Given the description of an element on the screen output the (x, y) to click on. 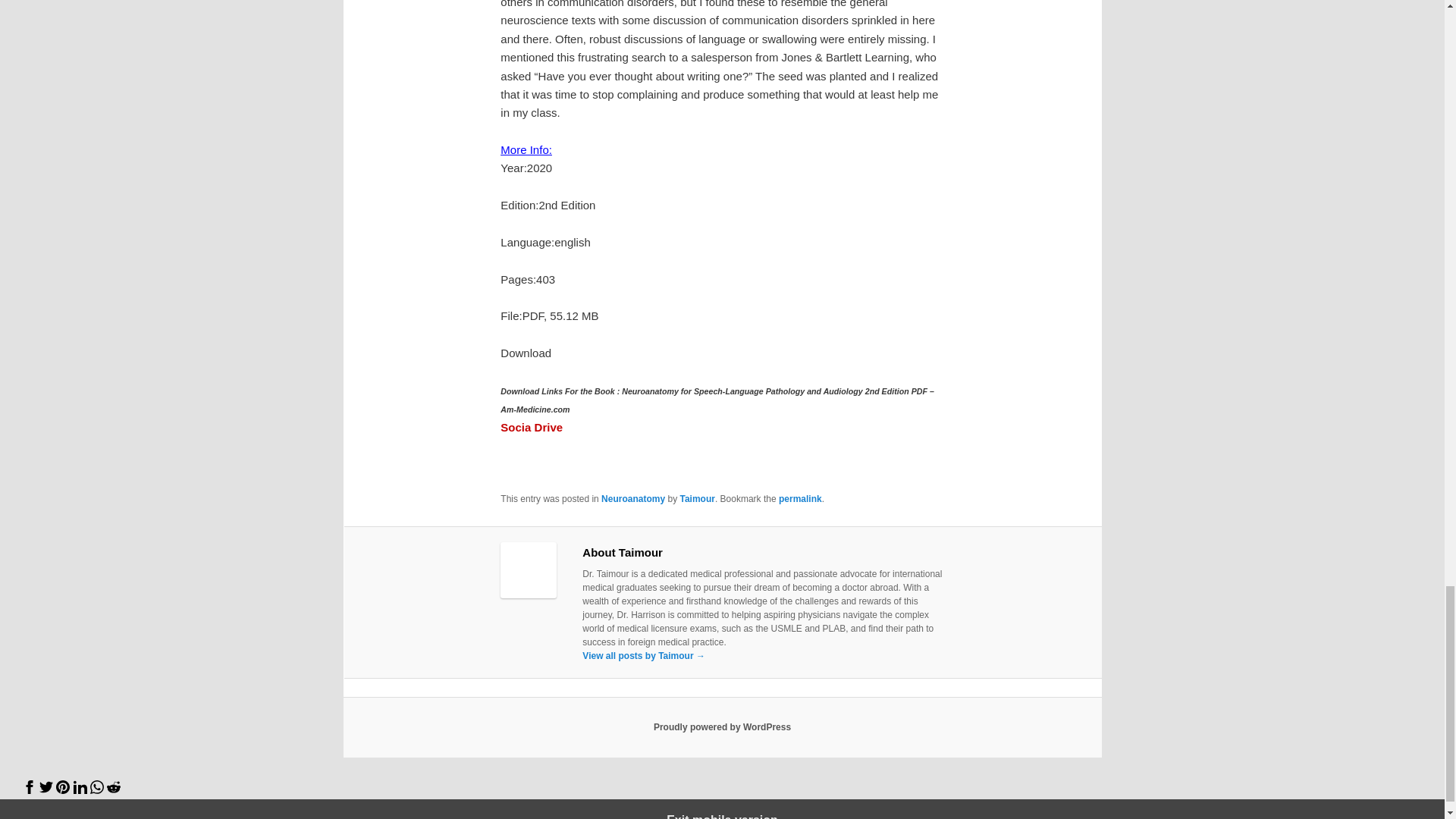
permalink (800, 498)
Semantic Personal Publishing Platform (721, 726)
Proudly powered by WordPress (721, 726)
Taimour (696, 498)
Neuroanatomy (633, 498)
Pages paperback (544, 278)
Socia Drive (531, 427)
